Given the description of an element on the screen output the (x, y) to click on. 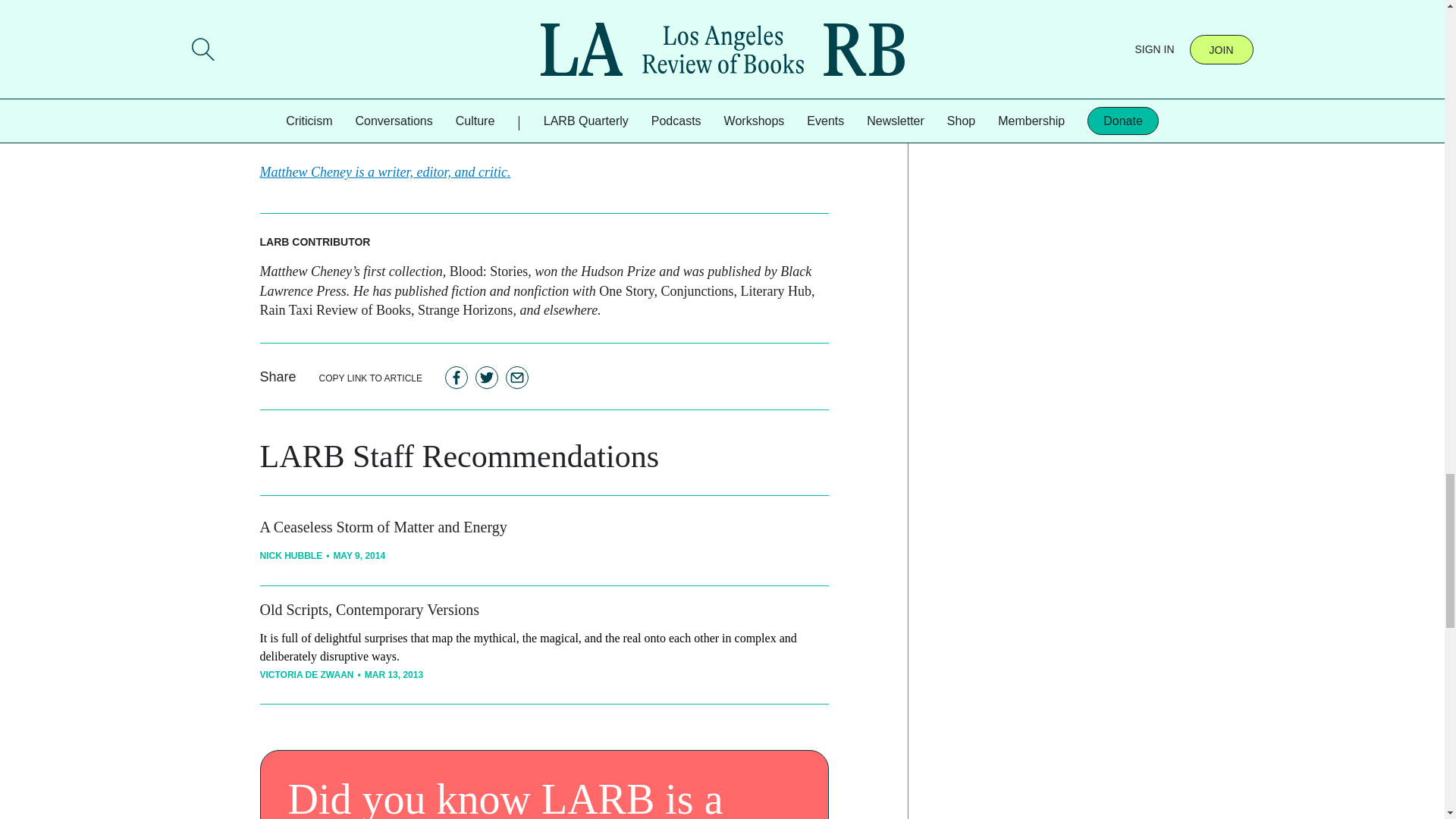
Share on twitter (486, 377)
VICTORIA DE ZWAAN (306, 674)
A Ceaseless Storm of Matter and Energy (382, 526)
Share on facebook (456, 377)
Old Scripts, Contemporary Versions (369, 609)
Matthew Cheney is a writer, editor, and critic. (385, 171)
NICK HUBBLE (290, 555)
COPY LINK TO ARTICLE (370, 377)
